Given the description of an element on the screen output the (x, y) to click on. 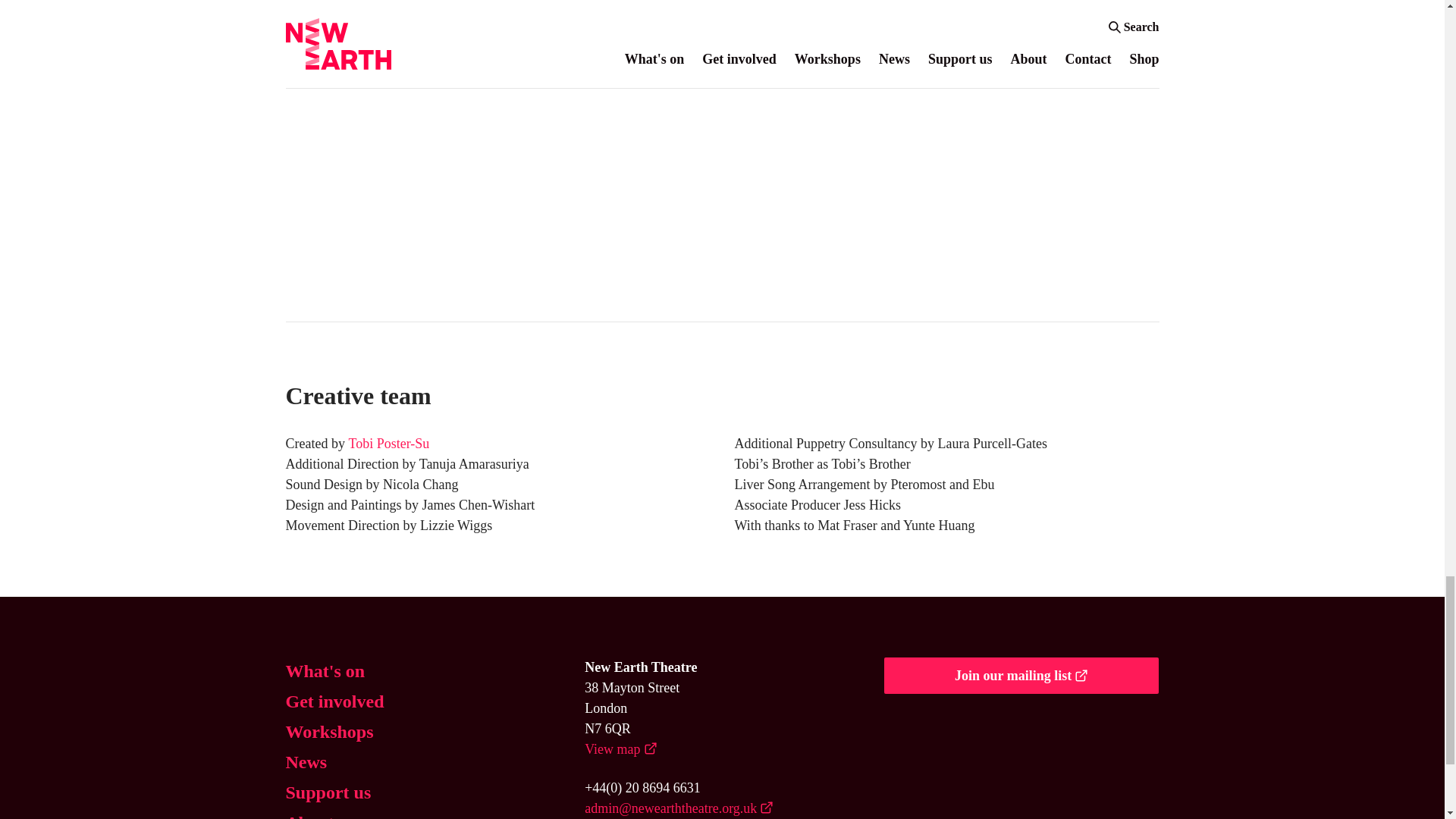
Workshops (328, 731)
Join our mailing list (1020, 675)
Support us (328, 791)
What's on (325, 670)
Tobi Poster-Su (388, 444)
Get involved (334, 700)
News (305, 761)
About (309, 814)
View map (620, 749)
